Given the description of an element on the screen output the (x, y) to click on. 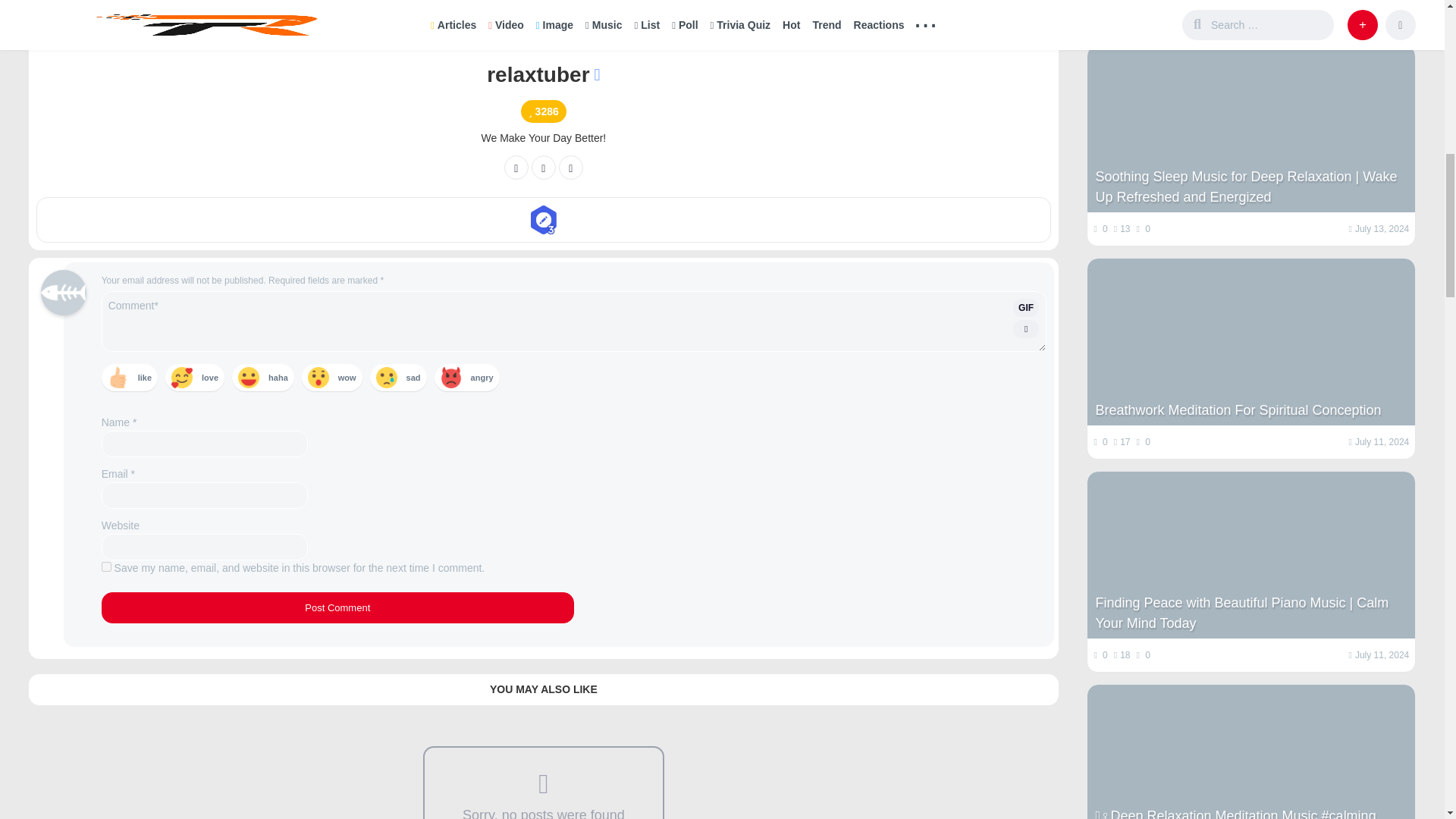
Post Comment (337, 608)
facebook (515, 166)
twitter (543, 166)
url (571, 166)
yes (106, 566)
verified account (596, 74)
Post Creator lvl3 (543, 219)
Points (543, 110)
